Given the description of an element on the screen output the (x, y) to click on. 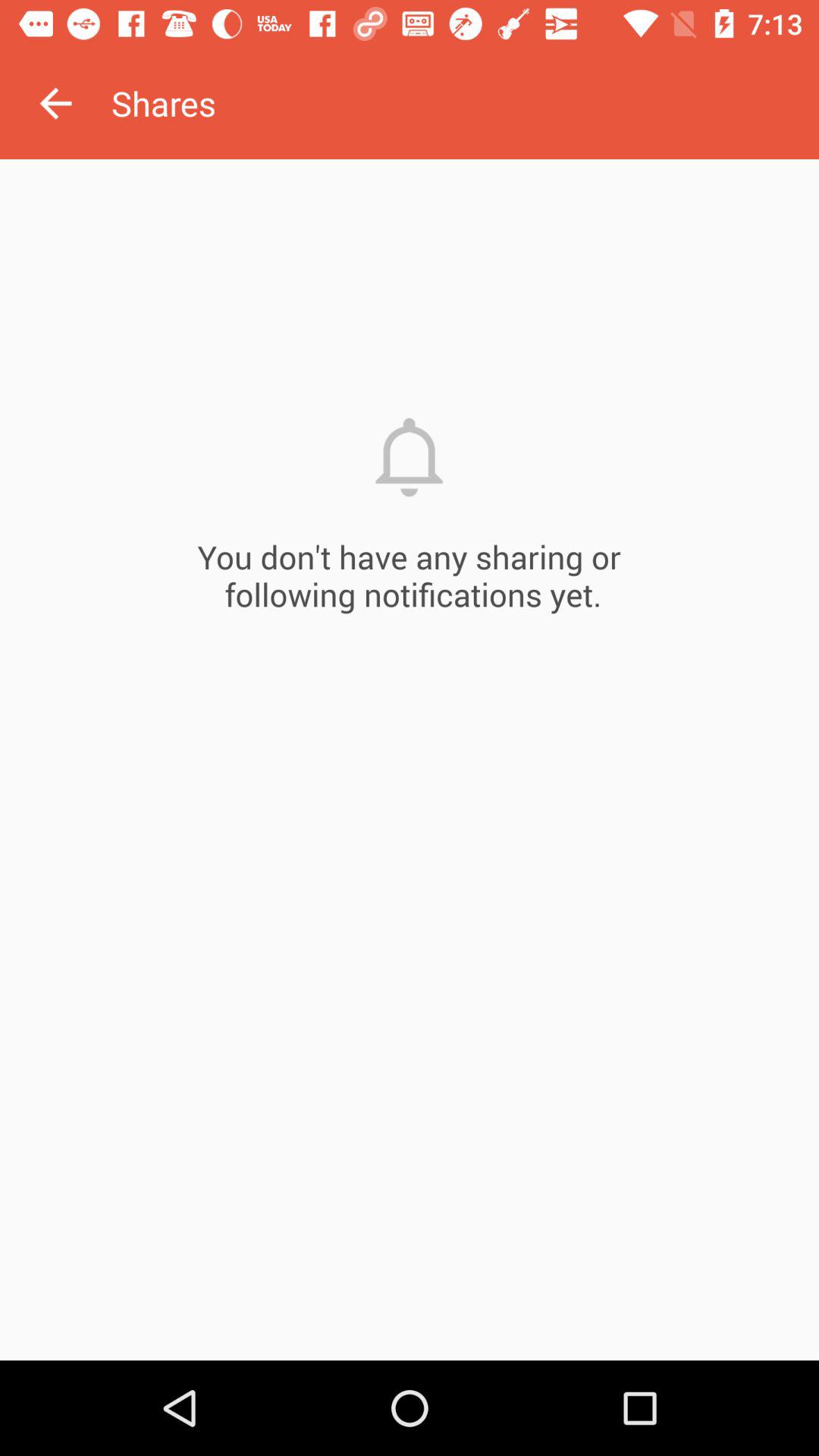
tap the shares (465, 103)
